Given the description of an element on the screen output the (x, y) to click on. 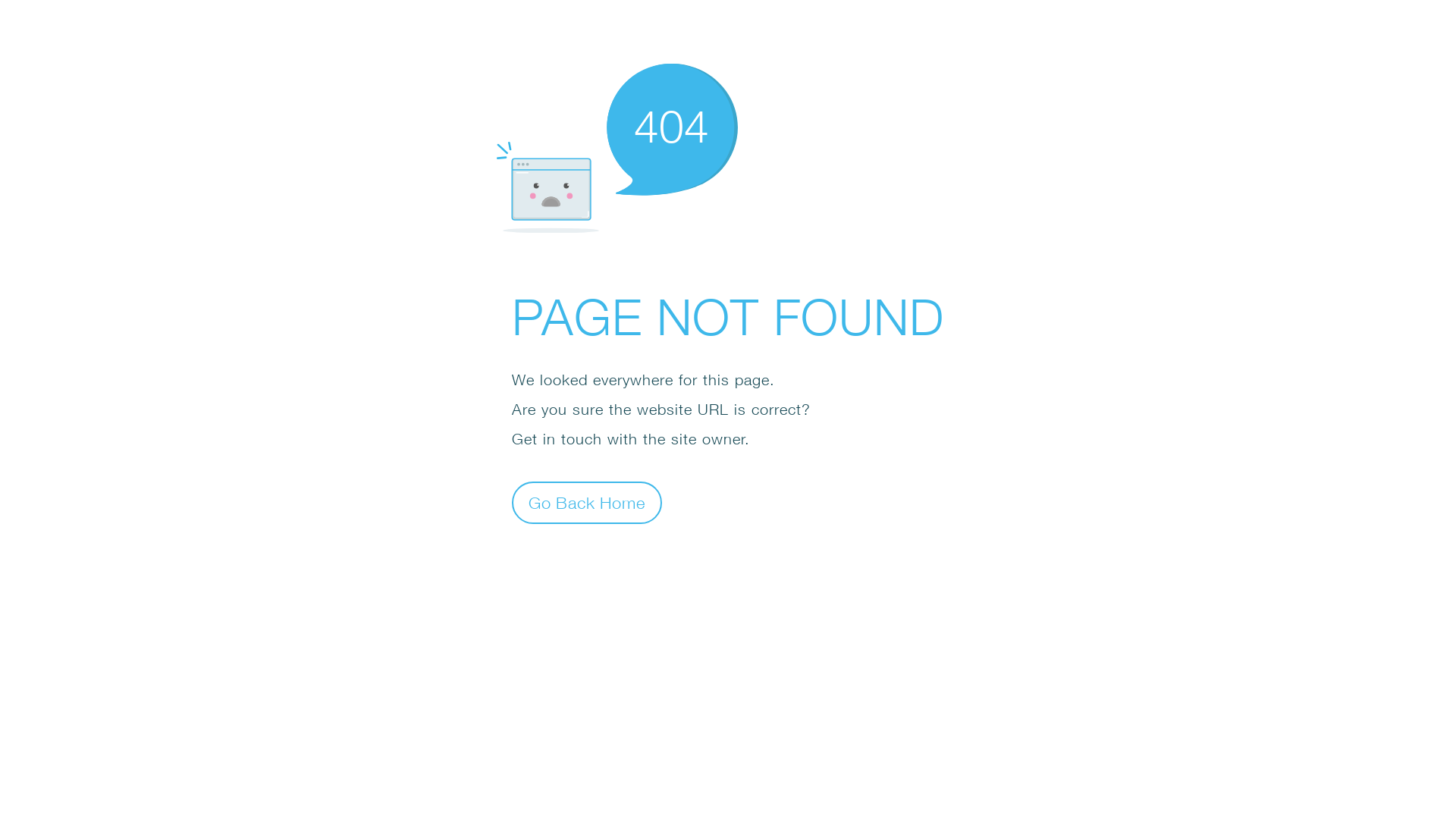
Go Back Home Element type: text (586, 502)
